Given the description of an element on the screen output the (x, y) to click on. 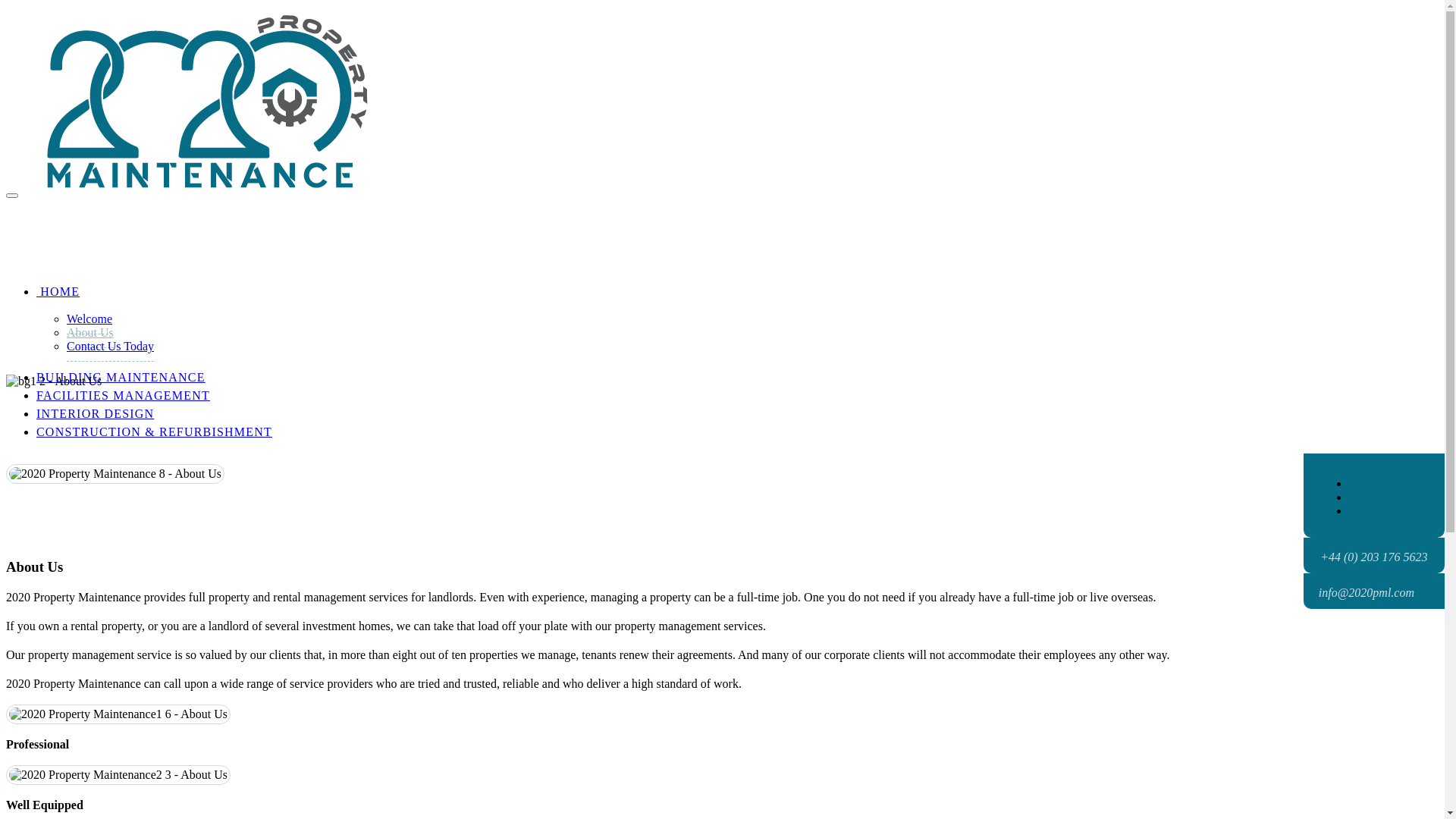
About Us Element type: text (89, 332)
CONSTRUCTION & REFURBISHMENT Element type: text (154, 431)
About Us Element type: hover (118, 774)
About Us Element type: hover (118, 714)
About Us Element type: hover (53, 381)
About Us Element type: hover (115, 473)
 HOME Element type: text (57, 291)
Welcome Element type: text (89, 319)
Contact Us Today Element type: text (109, 346)
FACILITIES MANAGEMENT Element type: text (123, 395)
BUILDING MAINTENANCE Element type: text (120, 376)
INTERIOR DESIGN Element type: text (94, 413)
